Given the description of an element on the screen output the (x, y) to click on. 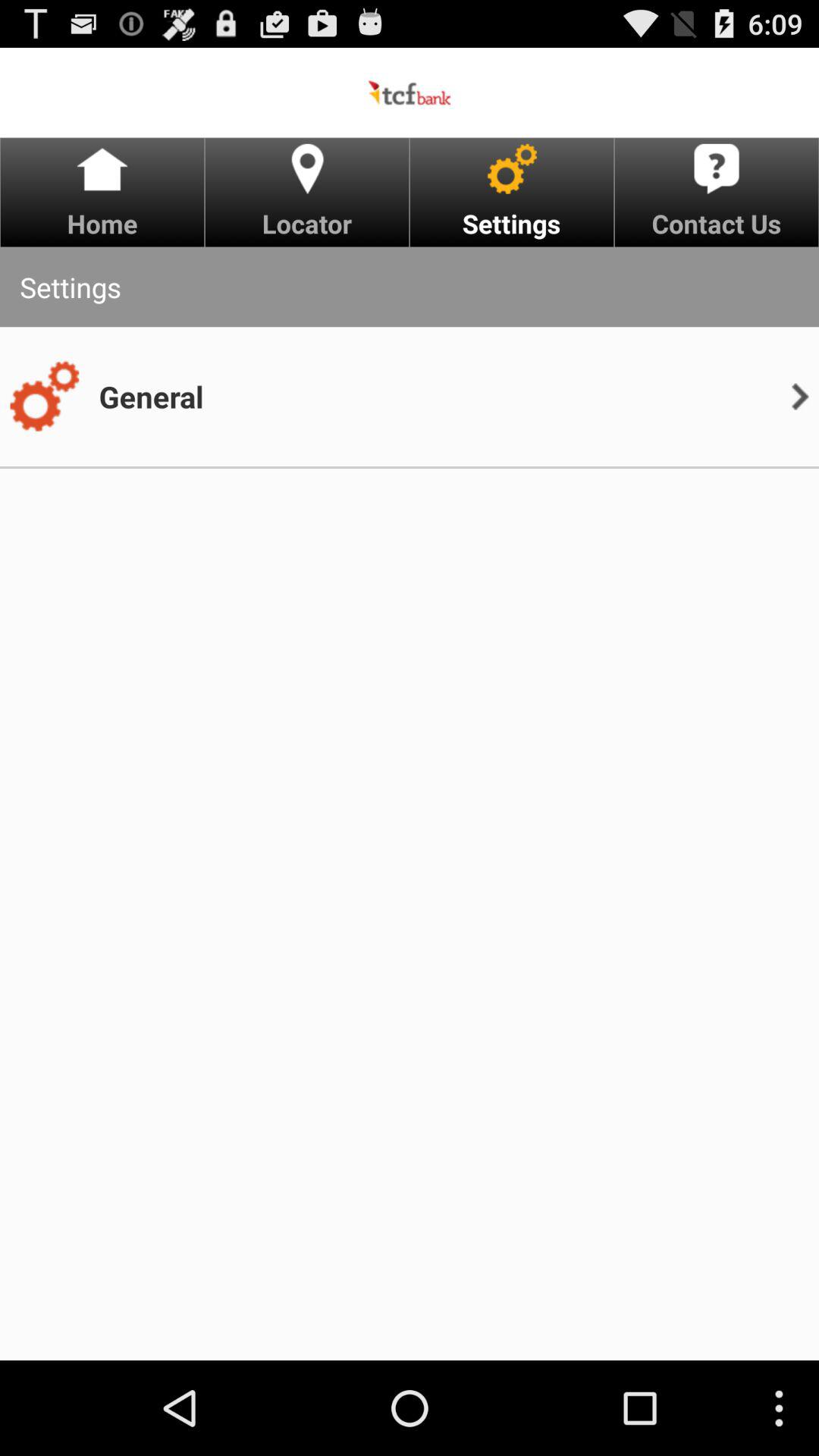
swipe to general app (150, 396)
